Given the description of an element on the screen output the (x, y) to click on. 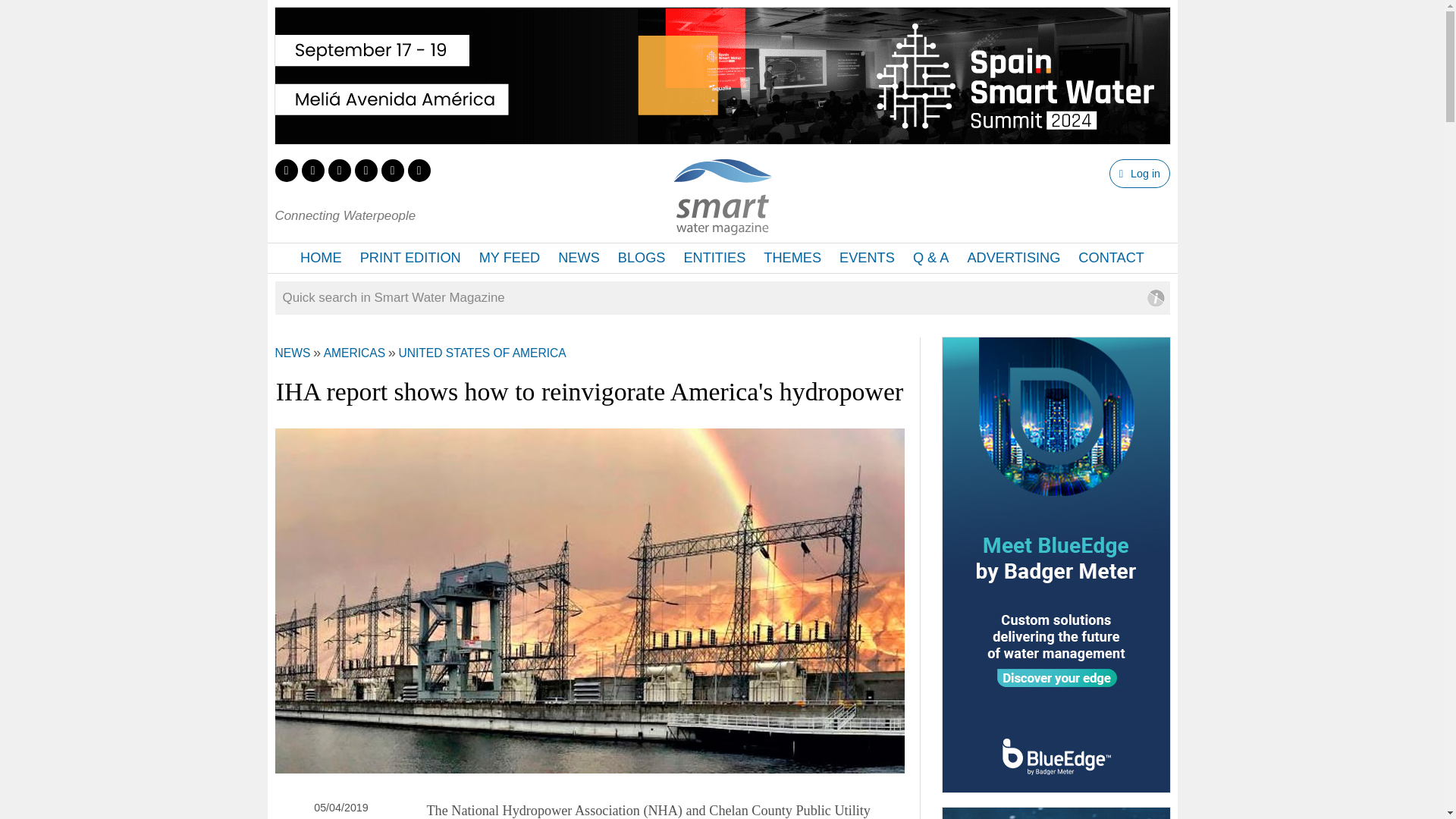
ENTITIES (714, 257)
Follow us on Facebook (312, 169)
AMERICAS (354, 352)
UNITED STATES OF AMERICA (481, 352)
NEWS (578, 257)
NEWS (292, 352)
ADVERTISING (1013, 257)
Follow us on Instagram (366, 169)
Follow us on Linkedin (338, 169)
Follow us on Twitter (286, 169)
Return to the Smart Water Magazine home page (721, 225)
THEMES (791, 257)
CONTACT (1110, 257)
Log in (1139, 173)
HOME (320, 257)
